Given the description of an element on the screen output the (x, y) to click on. 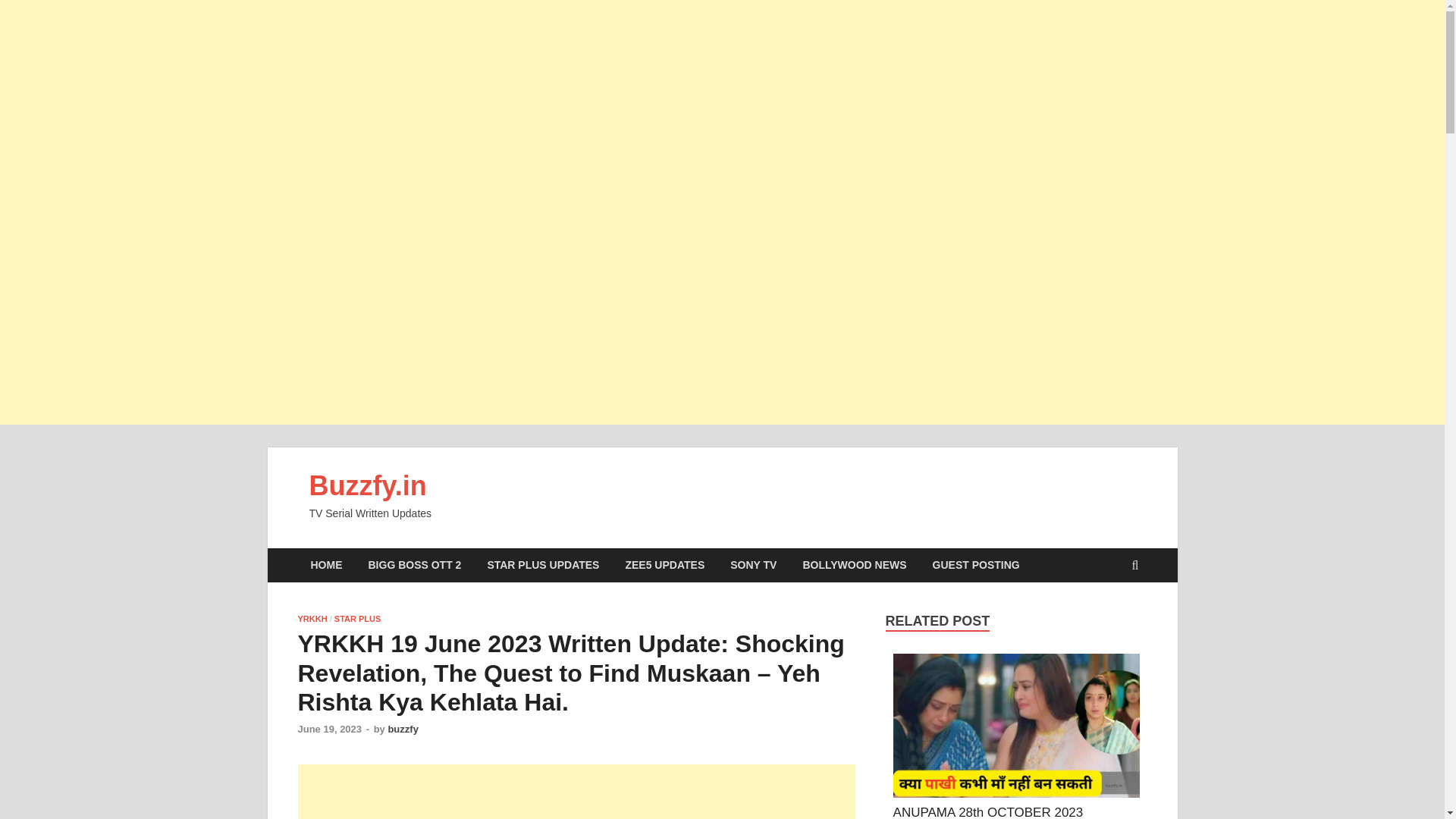
BOLLYWOOD NEWS (853, 564)
BIGG BOSS OTT 2 (414, 564)
June 19, 2023 (329, 728)
Advertisement (575, 791)
SONY TV (753, 564)
HOME (326, 564)
STAR PLUS UPDATES (542, 564)
Buzzfy.in (367, 485)
STAR PLUS (357, 618)
GUEST POSTING (976, 564)
ZEE5 UPDATES (664, 564)
buzzfy (402, 728)
YRKKH (311, 618)
